Given the description of an element on the screen output the (x, y) to click on. 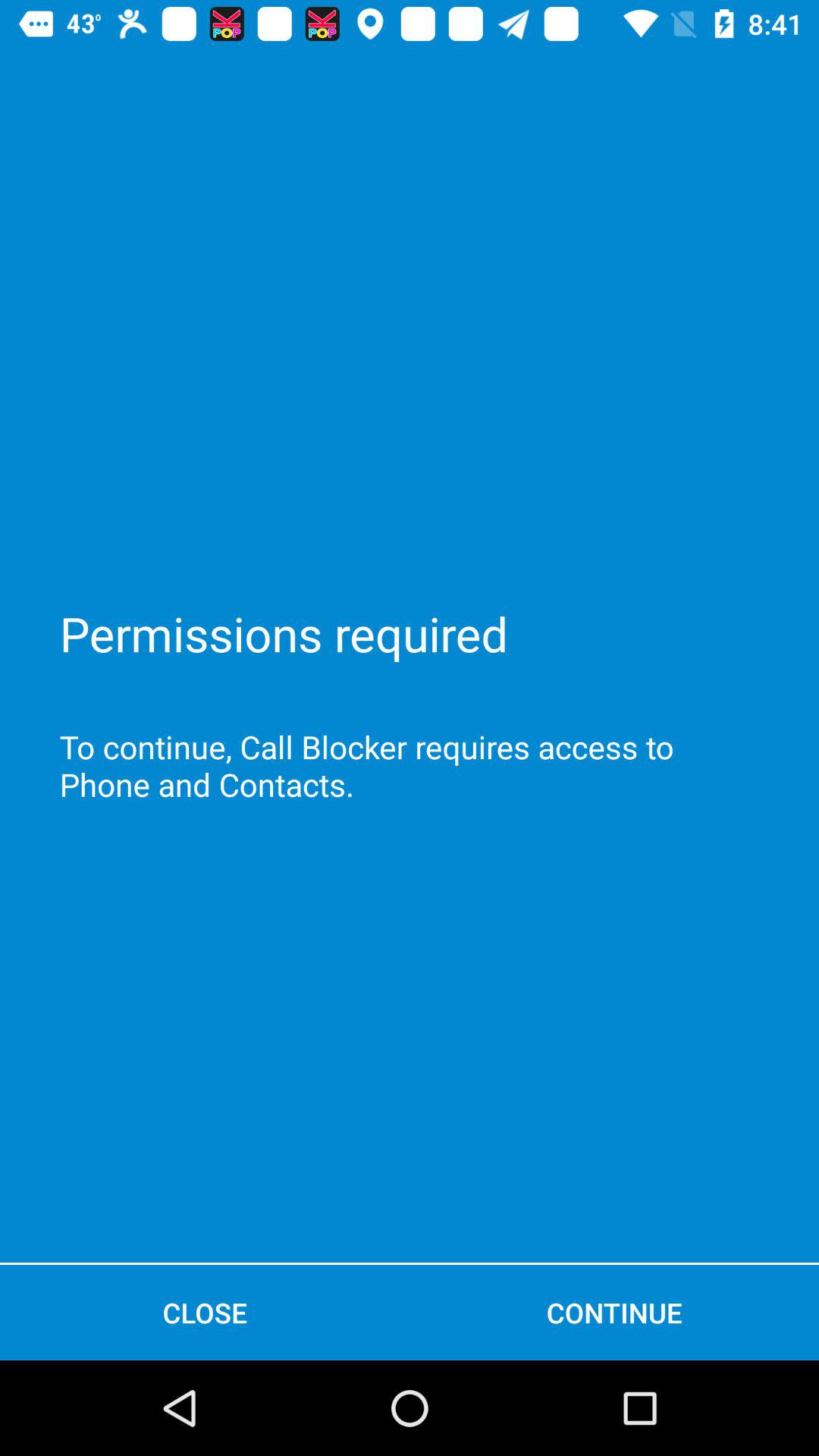
flip until the close item (204, 1312)
